Given the description of an element on the screen output the (x, y) to click on. 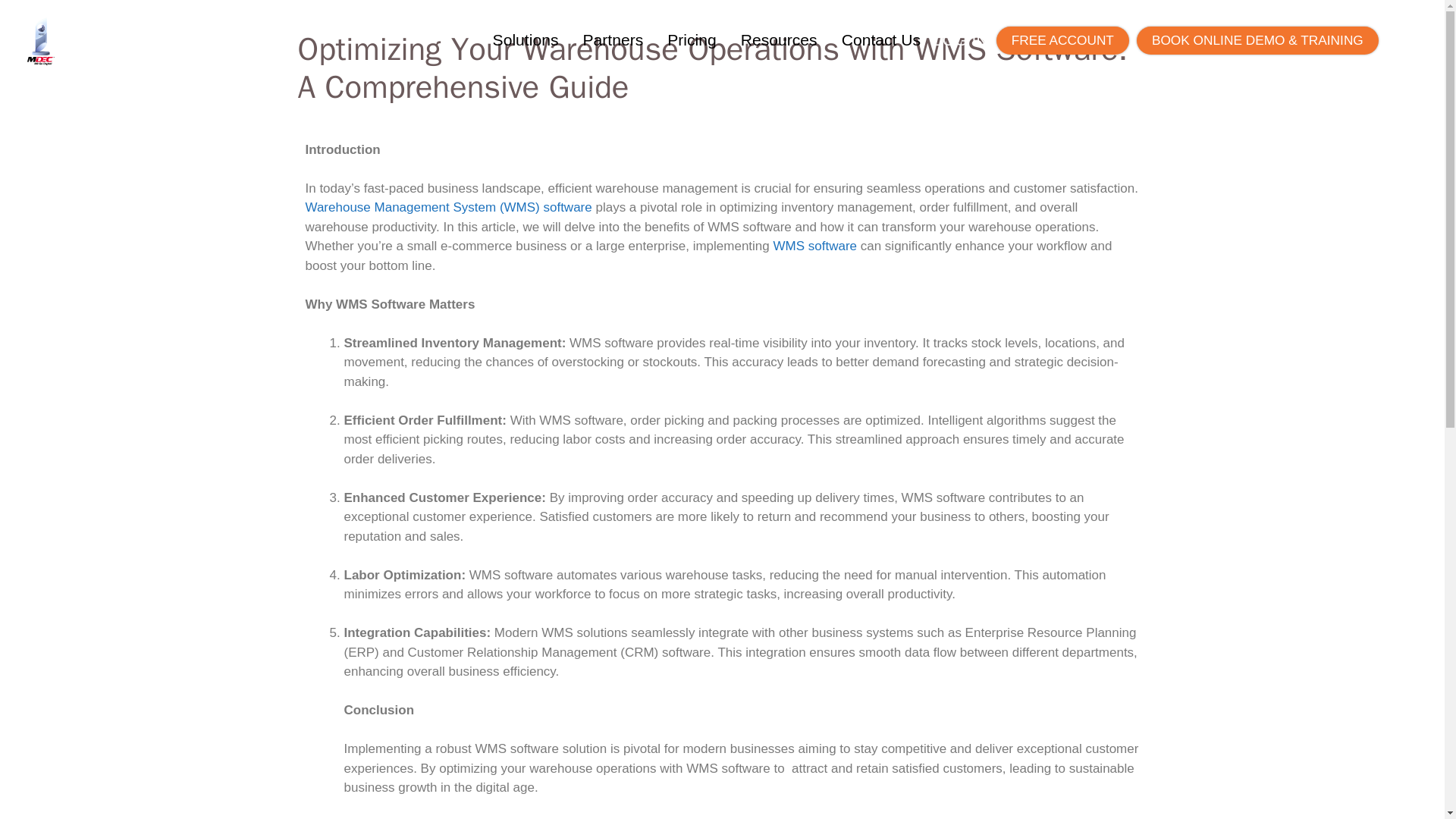
Partners (611, 39)
Contact Us (881, 39)
Solutions (525, 39)
Pricing (691, 39)
Resources (778, 39)
